Given the description of an element on the screen output the (x, y) to click on. 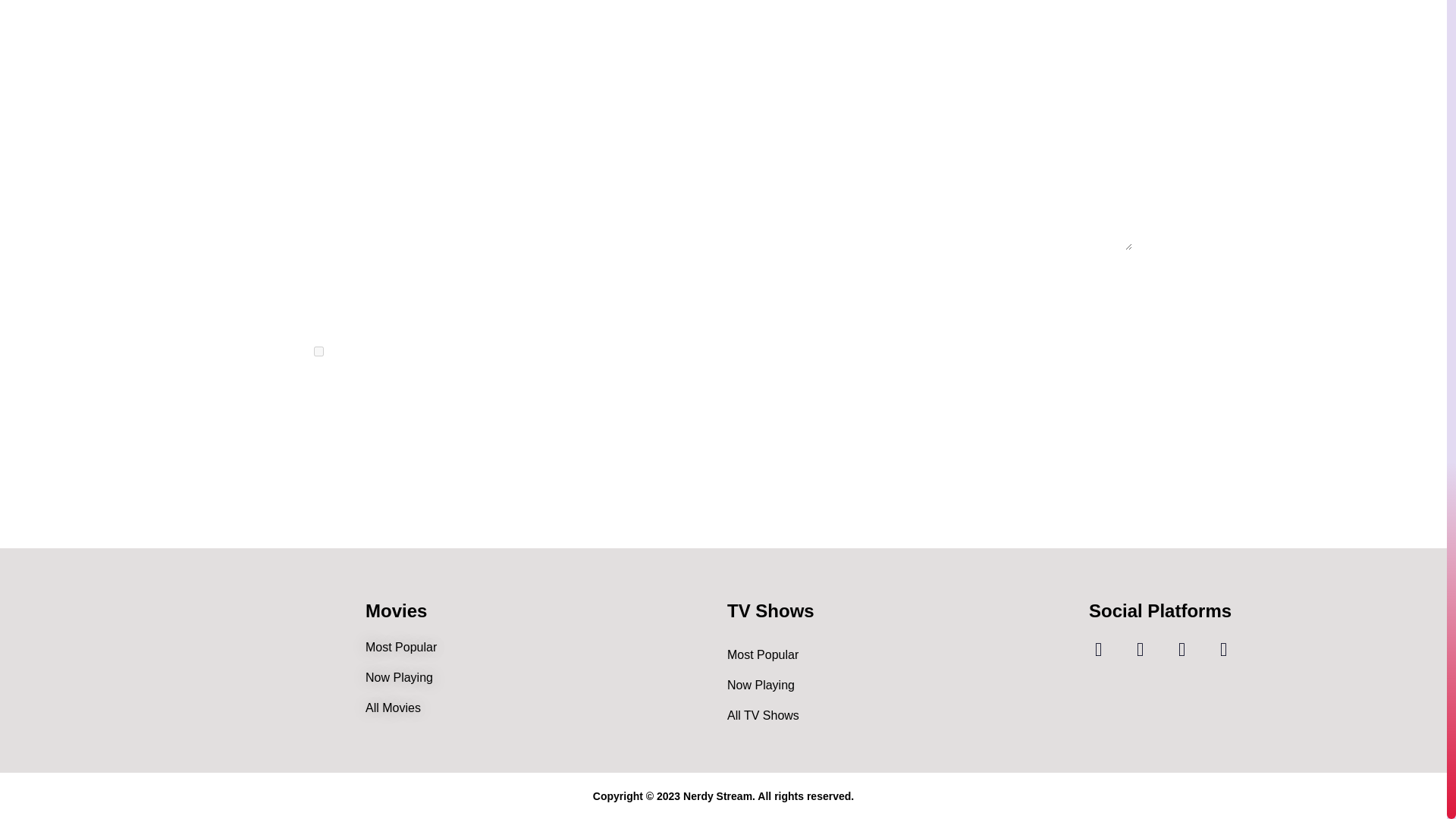
yes (318, 351)
Submit (357, 399)
